Given the description of an element on the screen output the (x, y) to click on. 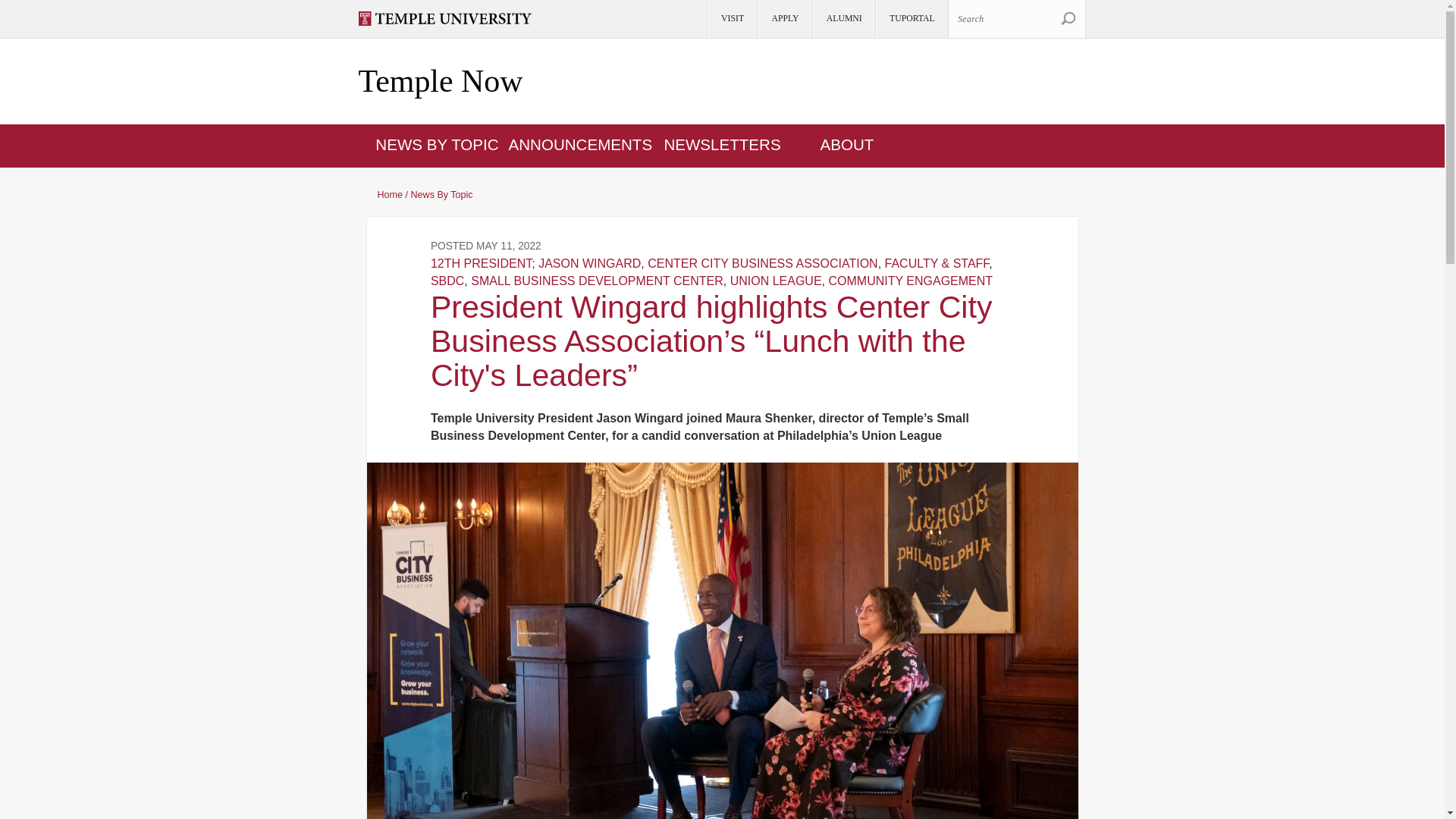
ABOUT (848, 144)
Search (1067, 18)
ALUMNI (843, 19)
NEWS BY TOPIC (436, 144)
Search (1016, 18)
Search (1067, 18)
VISIT (731, 19)
TUPORTAL (911, 19)
Home (440, 81)
Search Site (1067, 18)
